Given the description of an element on the screen output the (x, y) to click on. 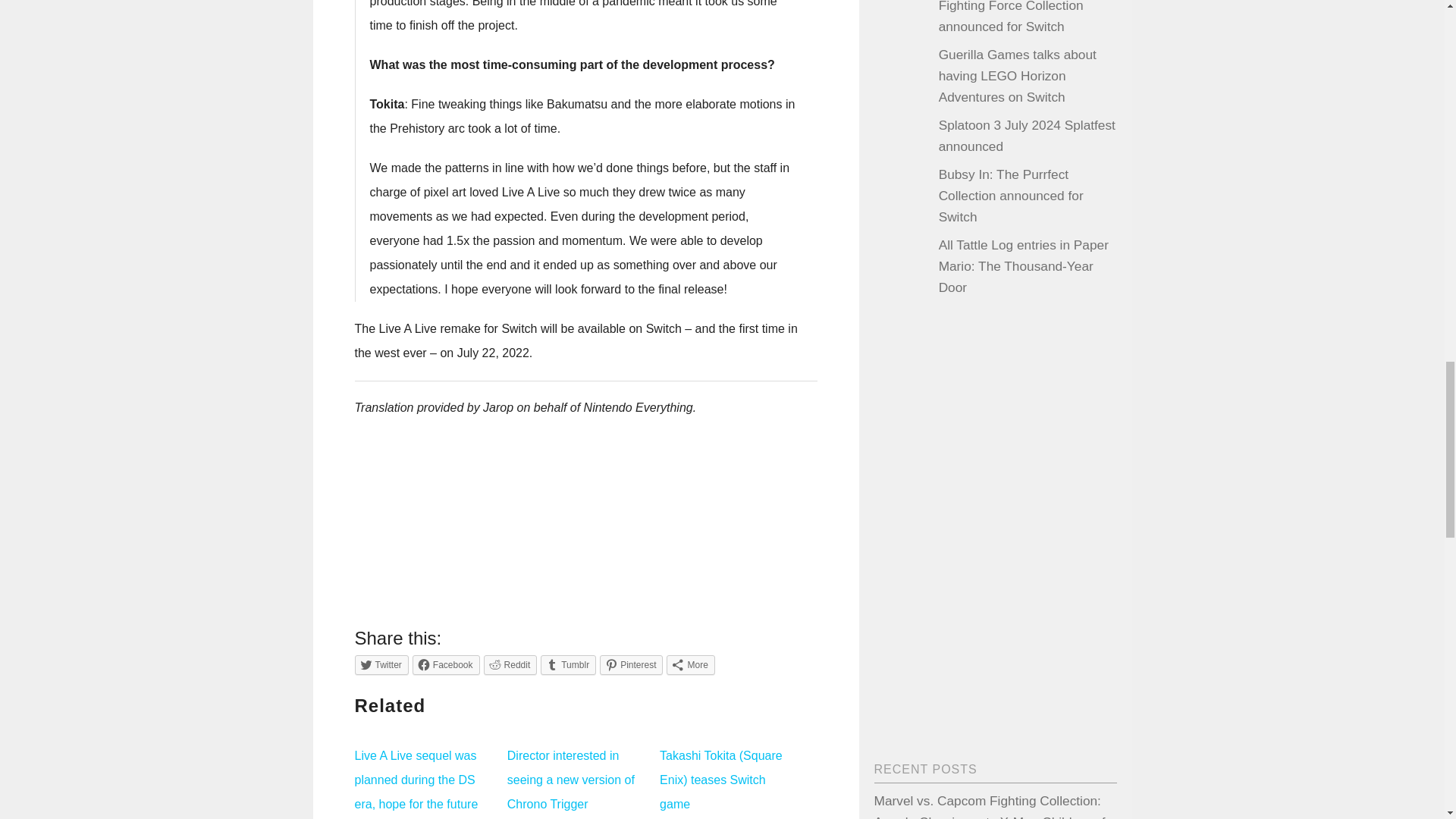
Click to share on Pinterest (630, 664)
Facebook (446, 664)
Click to share on Reddit (510, 664)
Click to share on Twitter (382, 664)
More (690, 664)
Reddit (510, 664)
Tumblr (567, 664)
Twitter (382, 664)
Click to share on Tumblr (567, 664)
